Given the description of an element on the screen output the (x, y) to click on. 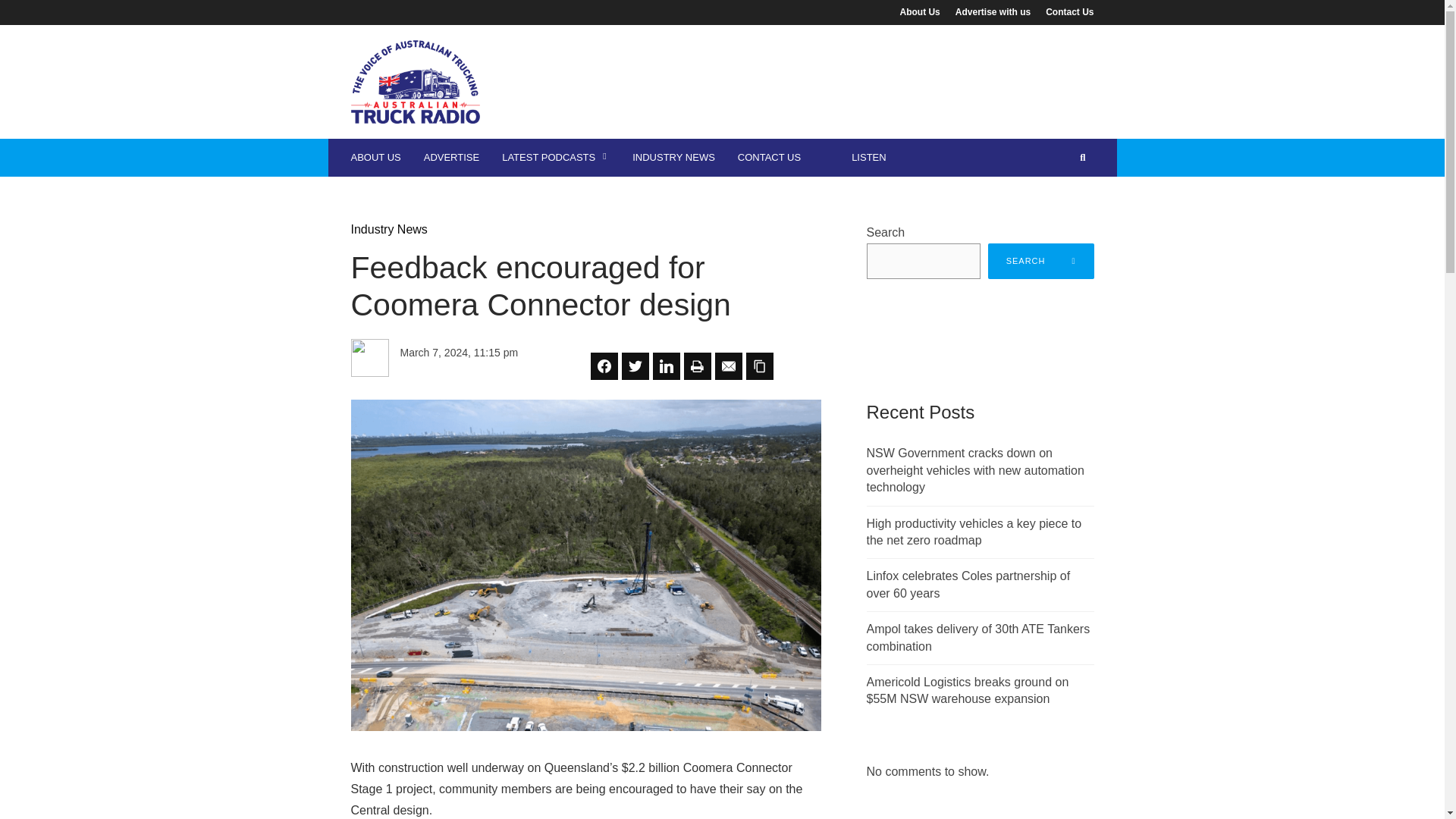
INDUSTRY NEWS (673, 157)
Linfox celebrates Coles partnership of over 60 years (968, 583)
Advertise with us (992, 11)
ABOUT US (375, 157)
Industry News (388, 228)
LATEST PODCASTS (555, 157)
Share on Facebook (604, 366)
Share on Print (697, 366)
